Given the description of an element on the screen output the (x, y) to click on. 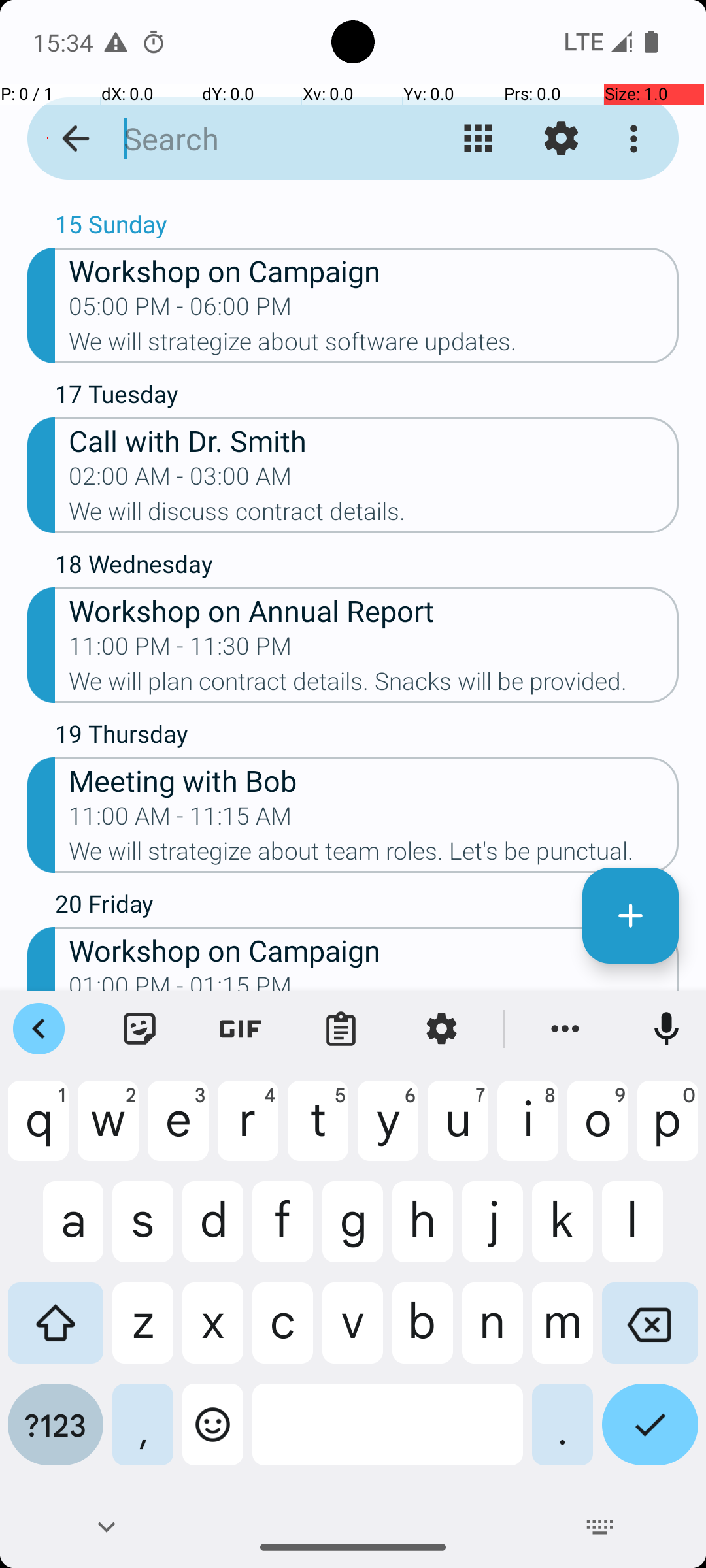
OCTOBER Element type: android.widget.TextView (353, 200)
15 Sunday Element type: android.widget.TextView (366, 227)
17 Tuesday Element type: android.widget.TextView (366, 396)
18 Wednesday Element type: android.widget.TextView (366, 566)
19 Thursday Element type: android.widget.TextView (366, 736)
20 Friday Element type: android.widget.TextView (366, 906)
Workshop on Campaign Element type: android.widget.TextView (373, 269)
05:00 PM - 06:00 PM Element type: android.widget.TextView (179, 309)
We will strategize about software updates. Element type: android.widget.TextView (373, 345)
Call with Dr. Smith Element type: android.widget.TextView (373, 439)
02:00 AM - 03:00 AM Element type: android.widget.TextView (179, 479)
We will discuss contract details. Element type: android.widget.TextView (373, 515)
Workshop on Annual Report Element type: android.widget.TextView (373, 609)
11:00 PM - 11:30 PM Element type: android.widget.TextView (179, 649)
We will plan contract details. Snacks will be provided. Element type: android.widget.TextView (373, 684)
Meeting with Bob Element type: android.widget.TextView (373, 779)
11:00 AM - 11:15 AM Element type: android.widget.TextView (179, 819)
We will strategize about team roles. Let's be punctual. Element type: android.widget.TextView (373, 854)
01:00 PM - 01:15 PM Element type: android.widget.TextView (179, 981)
